Given the description of an element on the screen output the (x, y) to click on. 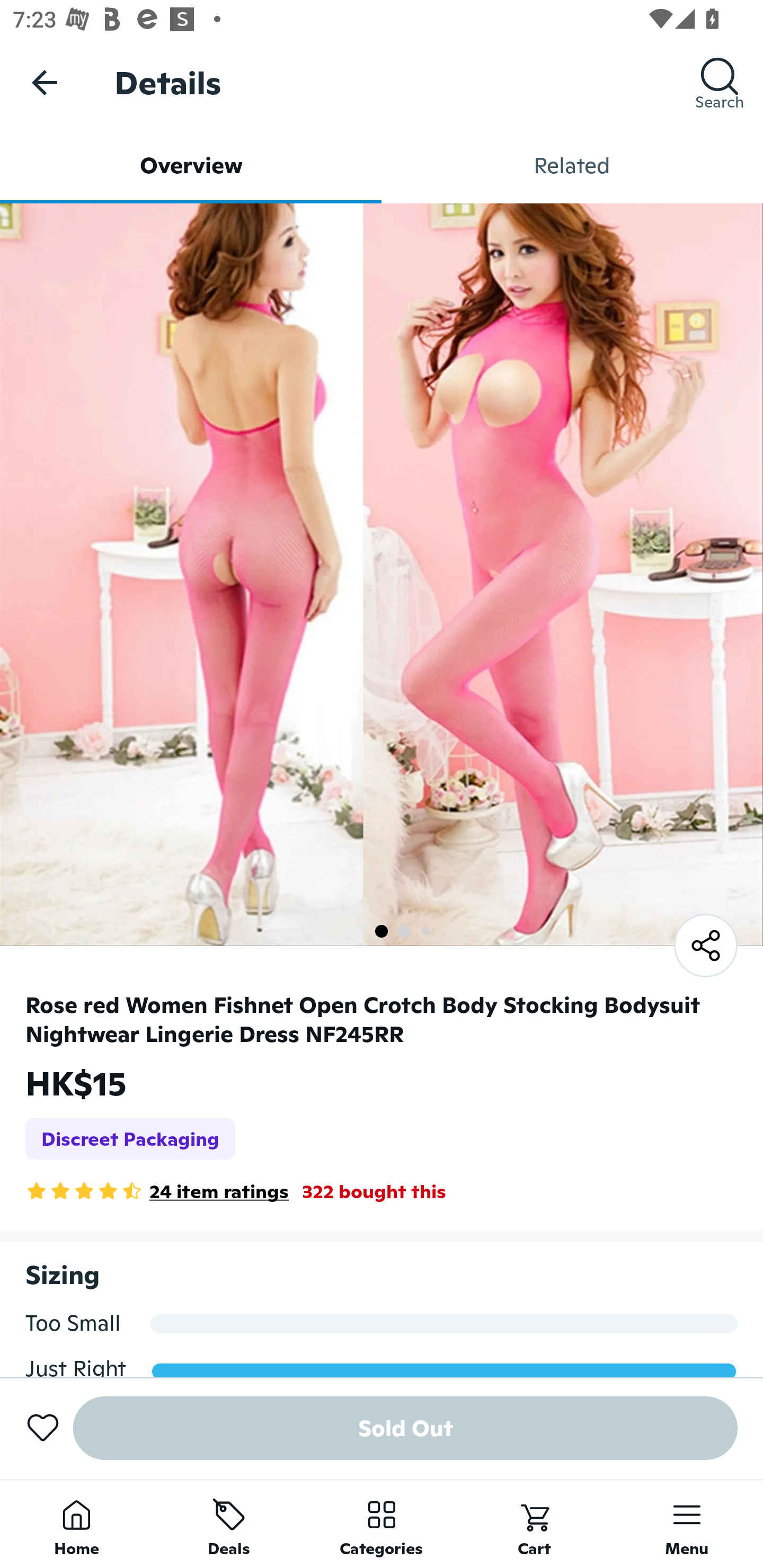
Navigate up (44, 82)
Search (719, 82)
Related (572, 165)
Discreet Packaging (130, 1138)
4.2 Star Rating 24 item ratings (157, 1191)
Sold Out (405, 1428)
Home (76, 1523)
Deals (228, 1523)
Categories (381, 1523)
Cart (533, 1523)
Menu (686, 1523)
